Given the description of an element on the screen output the (x, y) to click on. 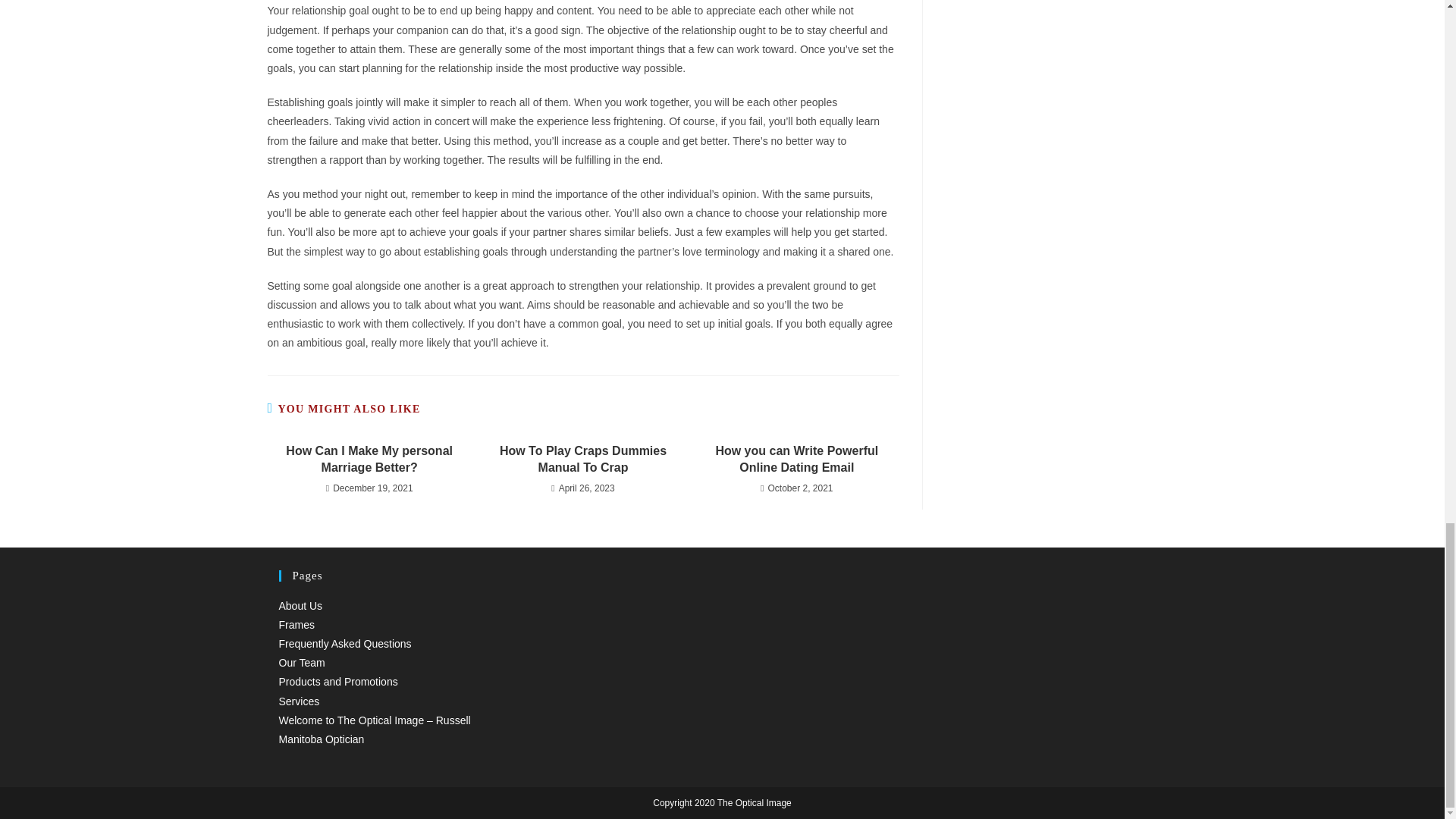
How To Play Craps Dummies Manual To Crap (582, 459)
Frames (296, 624)
About Us (301, 605)
Our Team (301, 662)
How Can I Make My personal Marriage Better? (368, 459)
Frequently Asked Questions (345, 644)
How you can Write Powerful Online Dating Email (796, 459)
